Given the description of an element on the screen output the (x, y) to click on. 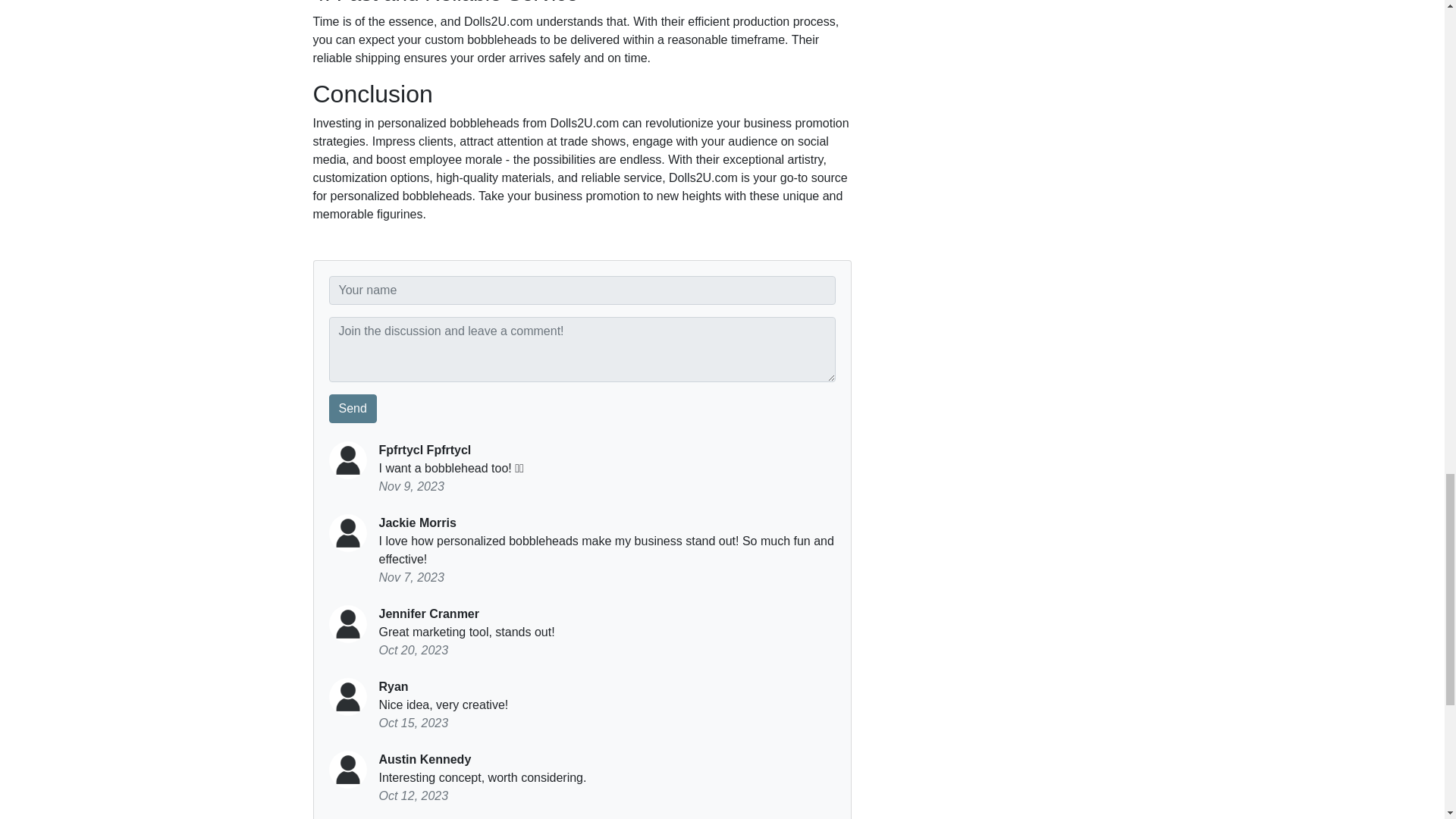
Send (353, 408)
Send (353, 408)
